Given the description of an element on the screen output the (x, y) to click on. 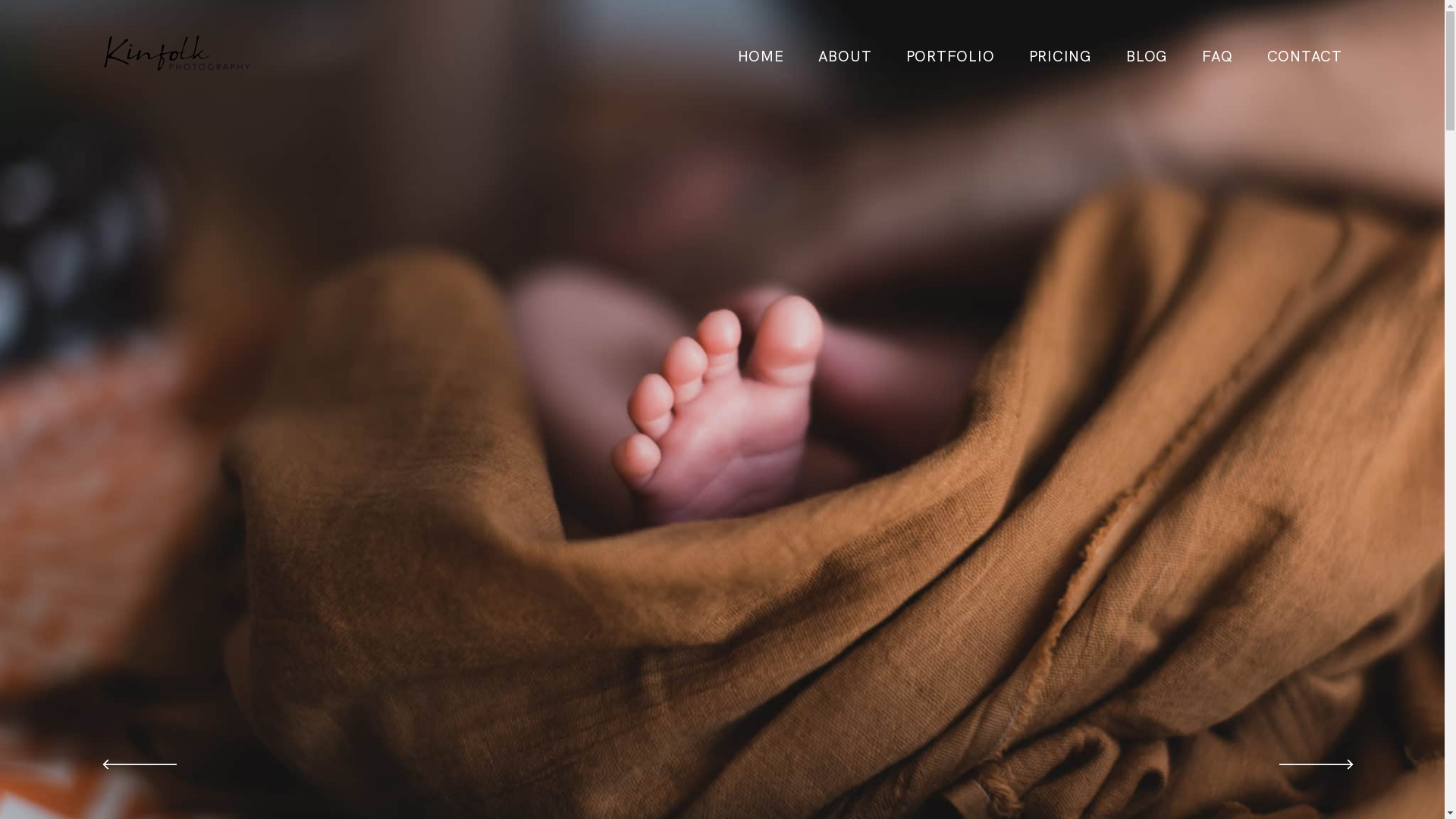
BLOG Element type: text (1146, 56)
FAQ Element type: text (1216, 56)
PORTFOLIO Element type: text (950, 56)
PRICING Element type: text (1060, 56)
ABOUT Element type: text (845, 56)
CONTACT Element type: text (1304, 56)
HOME Element type: text (760, 56)
